Given the description of an element on the screen output the (x, y) to click on. 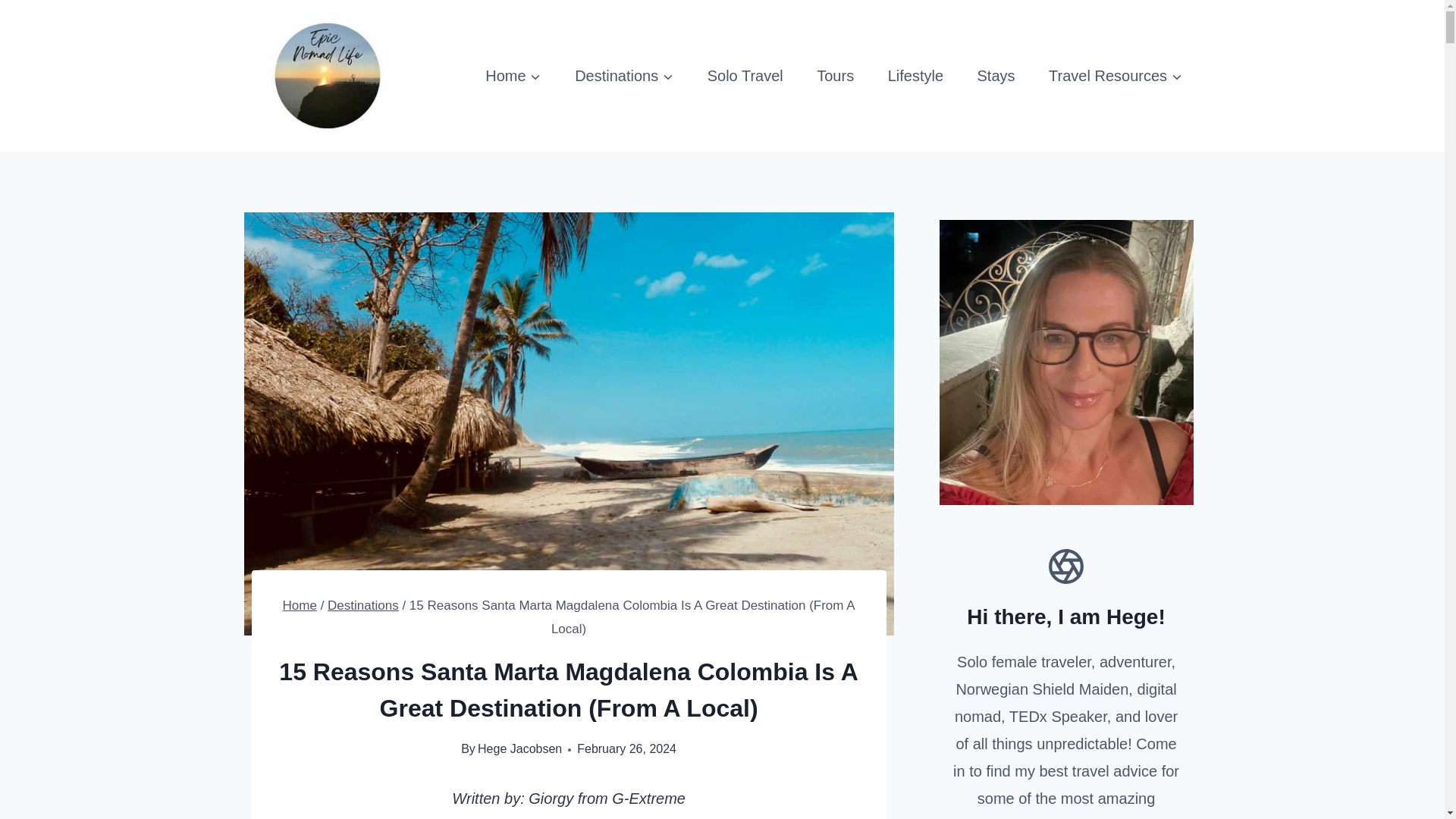
Hege Jacobsen (519, 748)
Stays (996, 75)
Home (512, 75)
Destinations (362, 605)
Home (299, 605)
Solo Travel (744, 75)
Lifestyle (914, 75)
Tours (835, 75)
Travel Resources (1115, 75)
Destinations (624, 75)
